Given the description of an element on the screen output the (x, y) to click on. 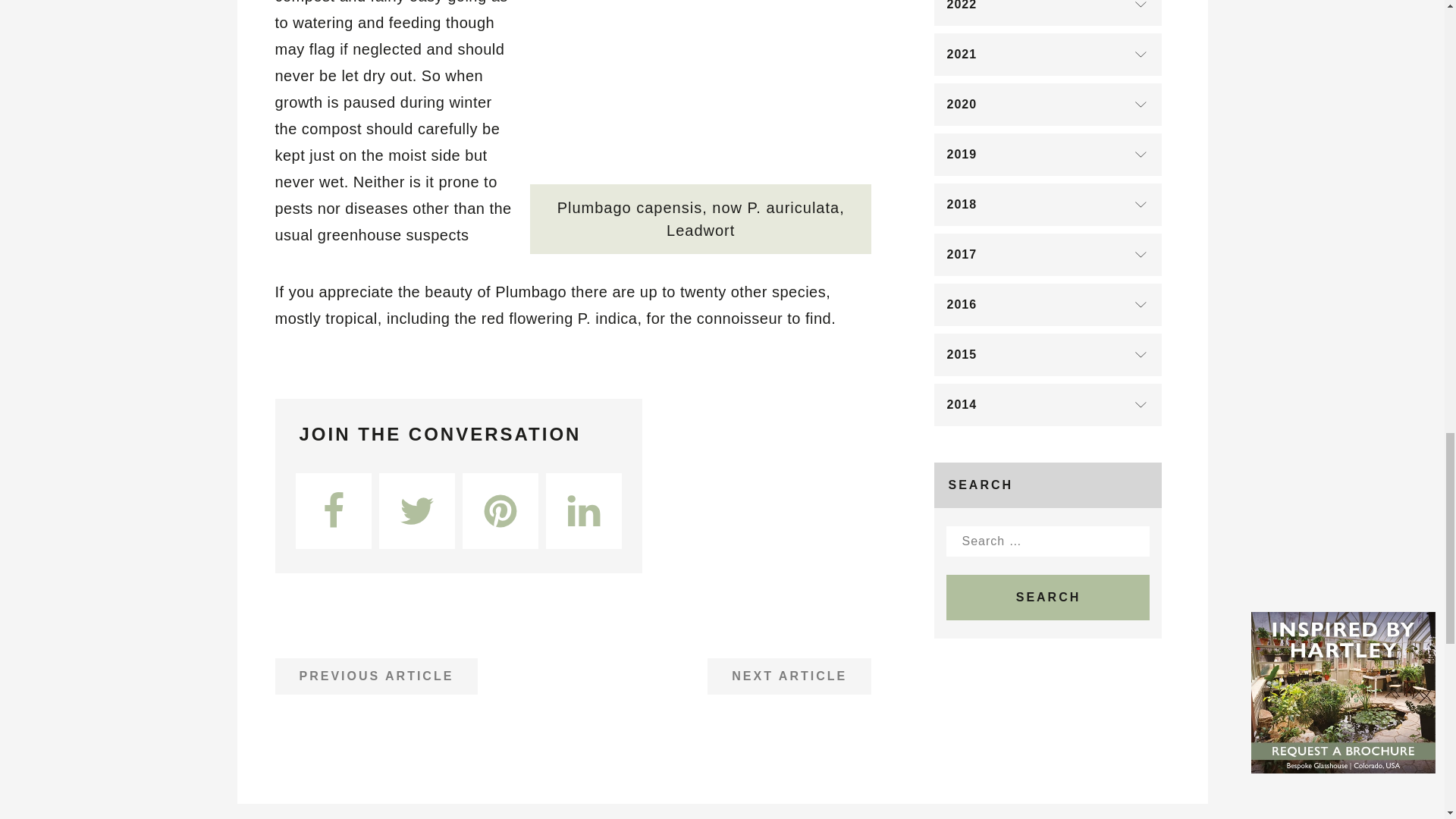
Search (1048, 596)
Search (1048, 596)
